Given the description of an element on the screen output the (x, y) to click on. 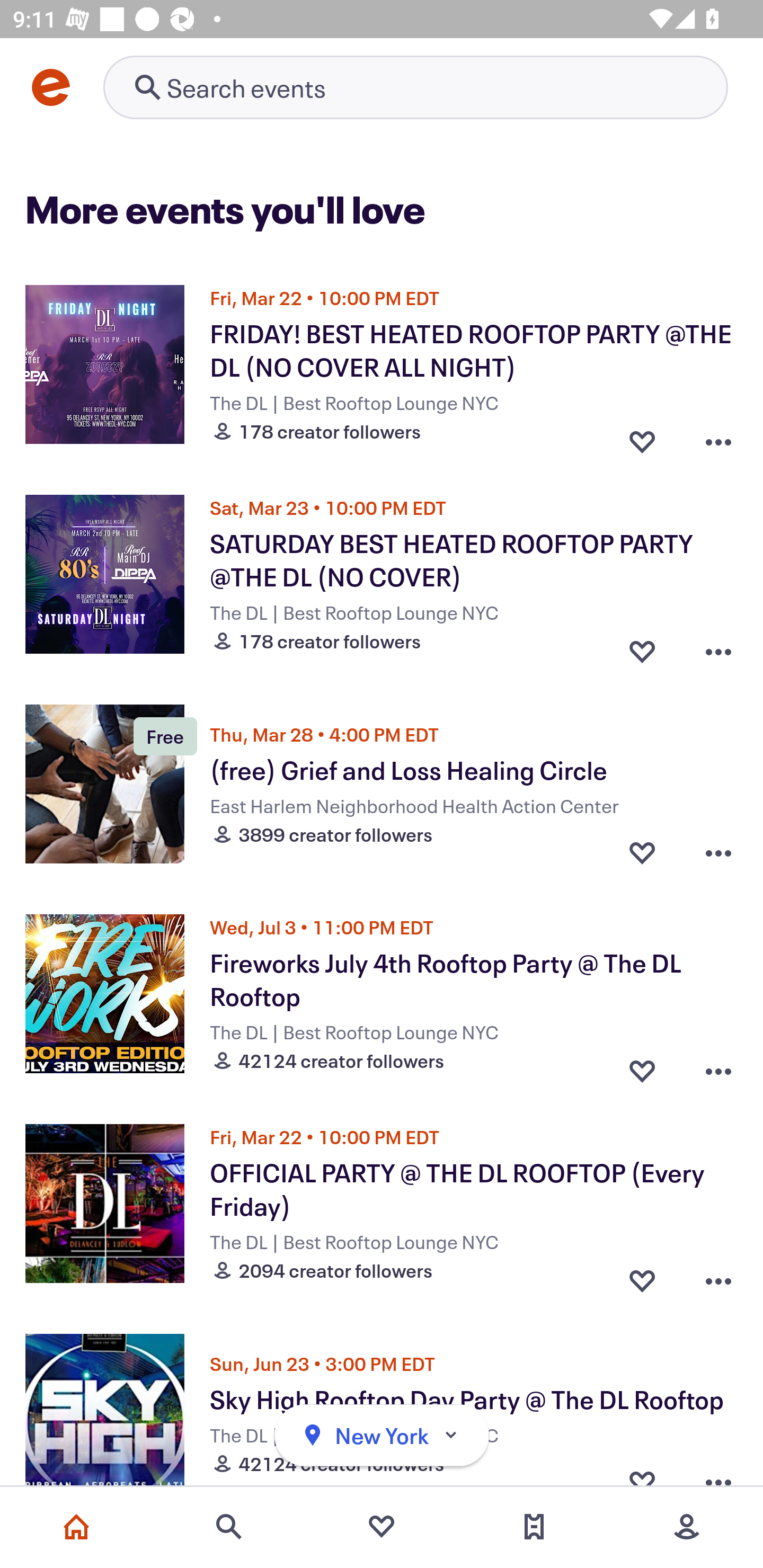
Retry's image Search events (415, 86)
Favorite button (642, 436)
Overflow menu button (718, 436)
Favorite button (642, 646)
Overflow menu button (718, 646)
Favorite button (642, 852)
Overflow menu button (718, 852)
Favorite button (642, 1066)
Overflow menu button (718, 1066)
Favorite button (642, 1275)
Overflow menu button (718, 1275)
New York (381, 1435)
Home (76, 1526)
Search events (228, 1526)
Favorites (381, 1526)
Tickets (533, 1526)
More (686, 1526)
